Given the description of an element on the screen output the (x, y) to click on. 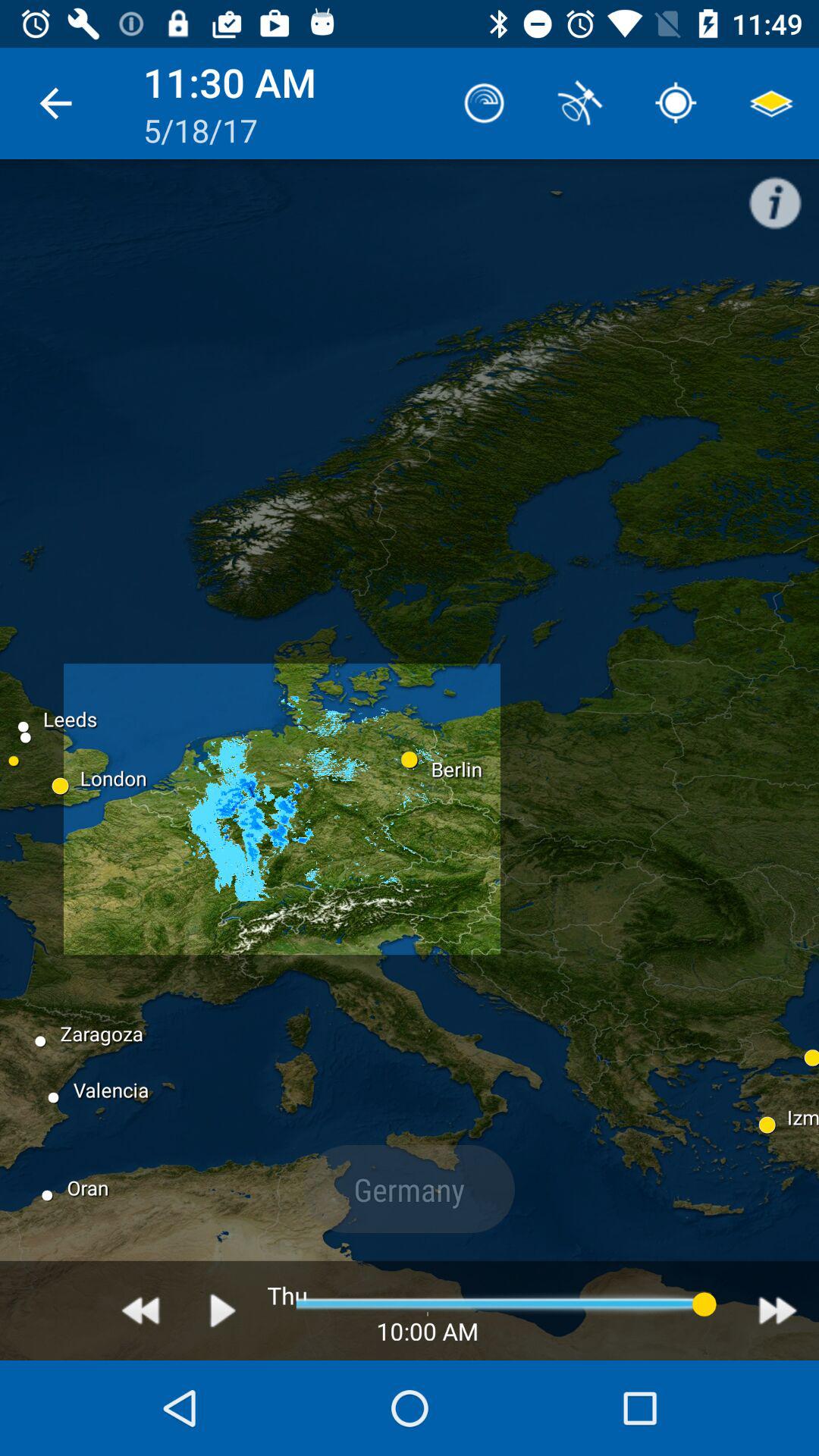
press the item below 5/18/17 item (223, 1310)
